Given the description of an element on the screen output the (x, y) to click on. 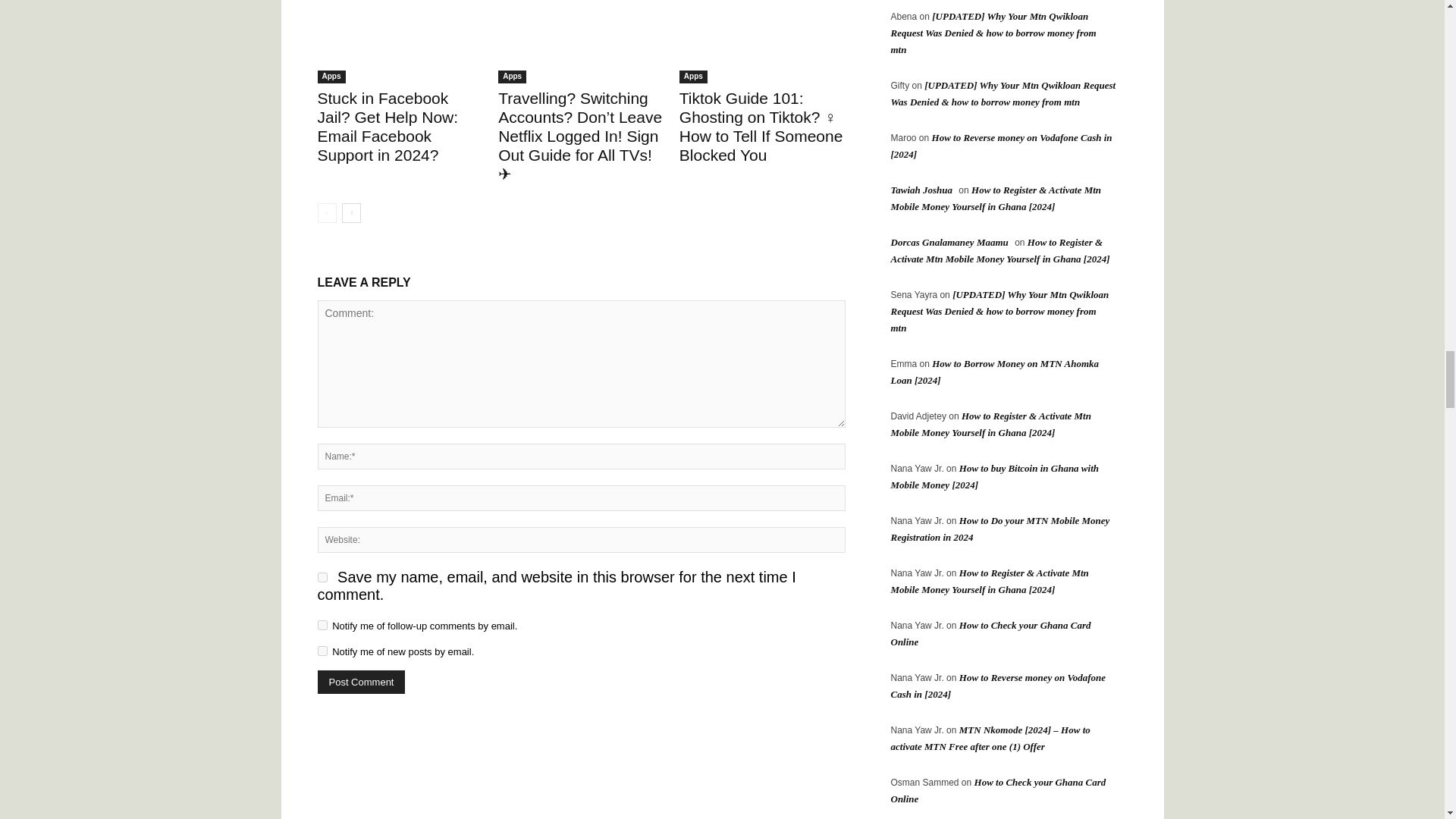
yes (321, 577)
Post Comment (360, 681)
subscribe (321, 651)
subscribe (321, 624)
